Given the description of an element on the screen output the (x, y) to click on. 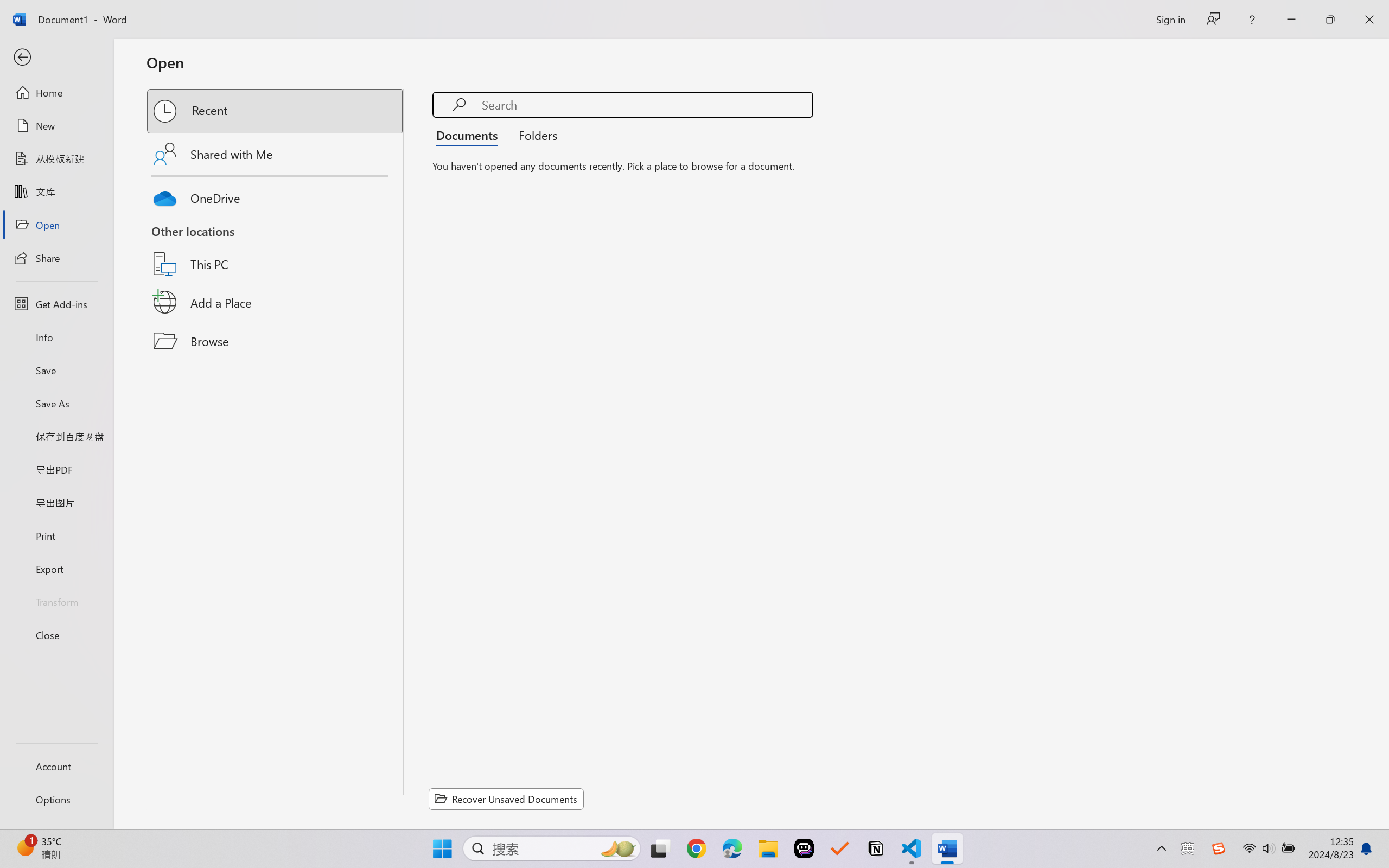
Recover Unsaved Documents (506, 798)
OneDrive (275, 195)
Account (56, 765)
Save As (56, 403)
New (56, 125)
Get Add-ins (56, 303)
Recent (275, 110)
Documents (469, 134)
Browse (275, 340)
